Given the description of an element on the screen output the (x, y) to click on. 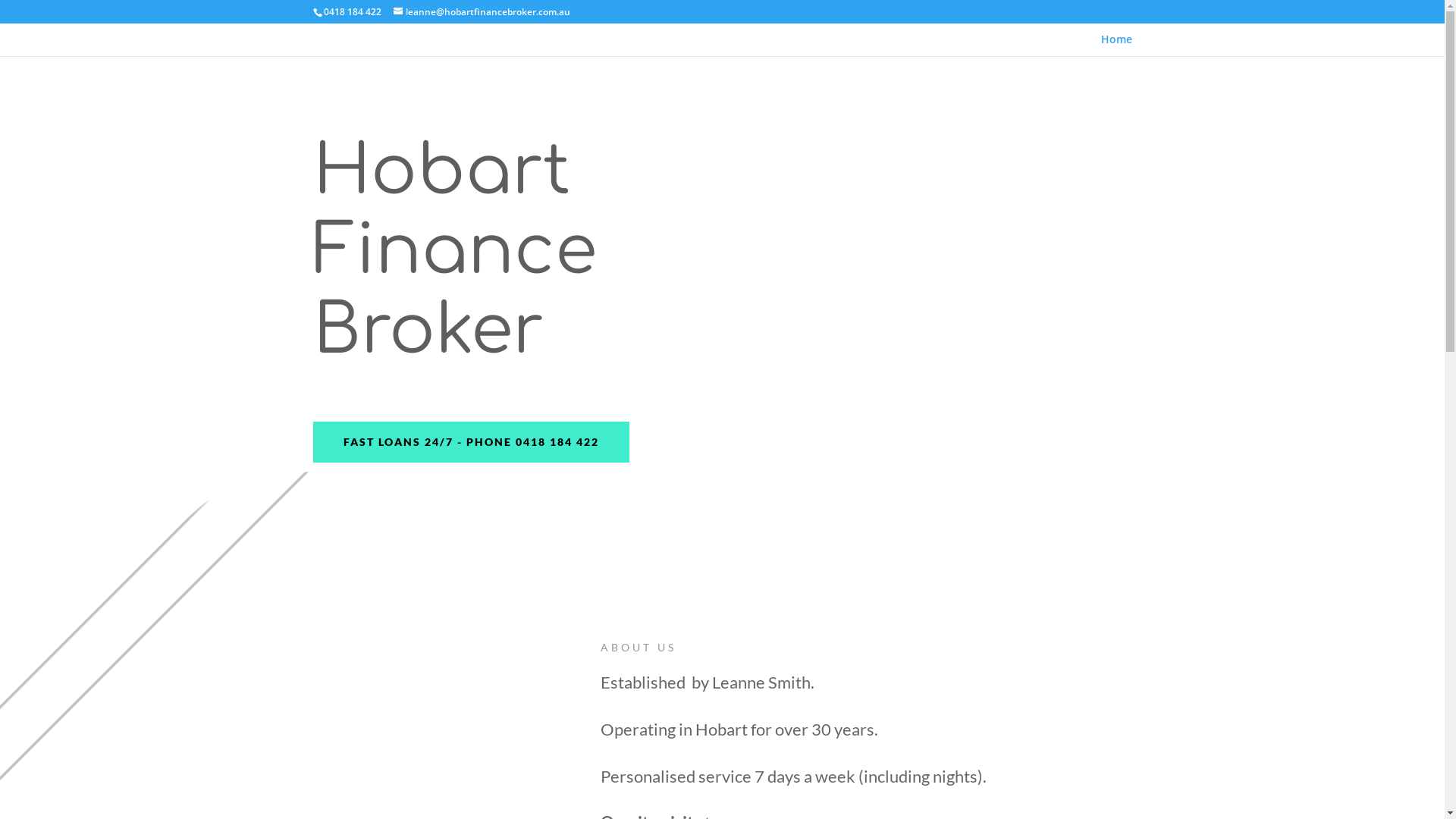
Home Element type: text (1116, 45)
leanne@hobartfinancebroker.com.au Element type: text (480, 11)
FAST LOANS 24/7 - PHONE 0418 184 422 Element type: text (470, 441)
